Given the description of an element on the screen output the (x, y) to click on. 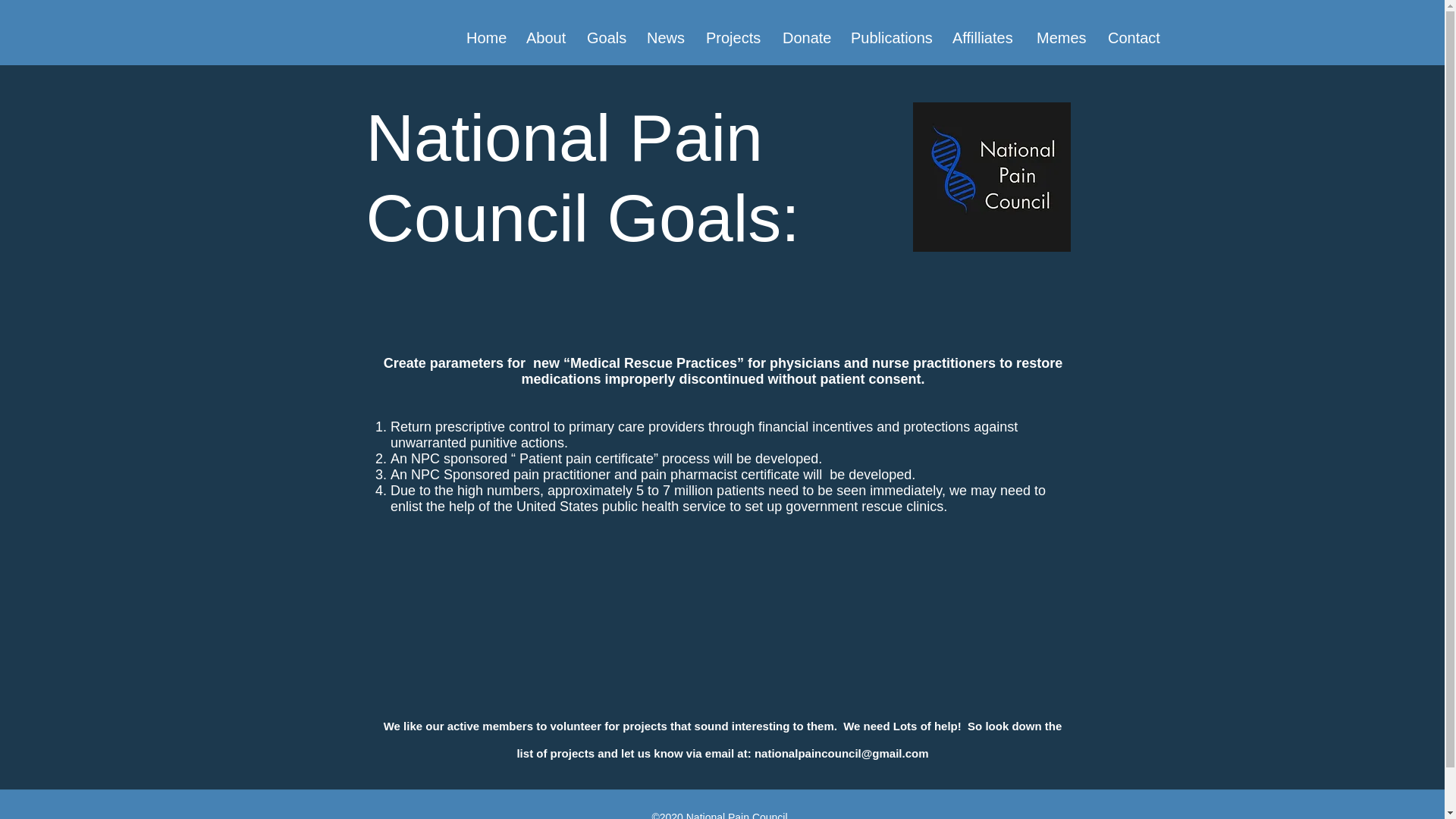
News (664, 37)
Home (484, 37)
Publications (890, 37)
Contact (1131, 37)
About (545, 37)
Donate (805, 37)
Affilliates (982, 37)
Goals (604, 37)
Memes (1060, 37)
Projects (732, 37)
